Given the description of an element on the screen output the (x, y) to click on. 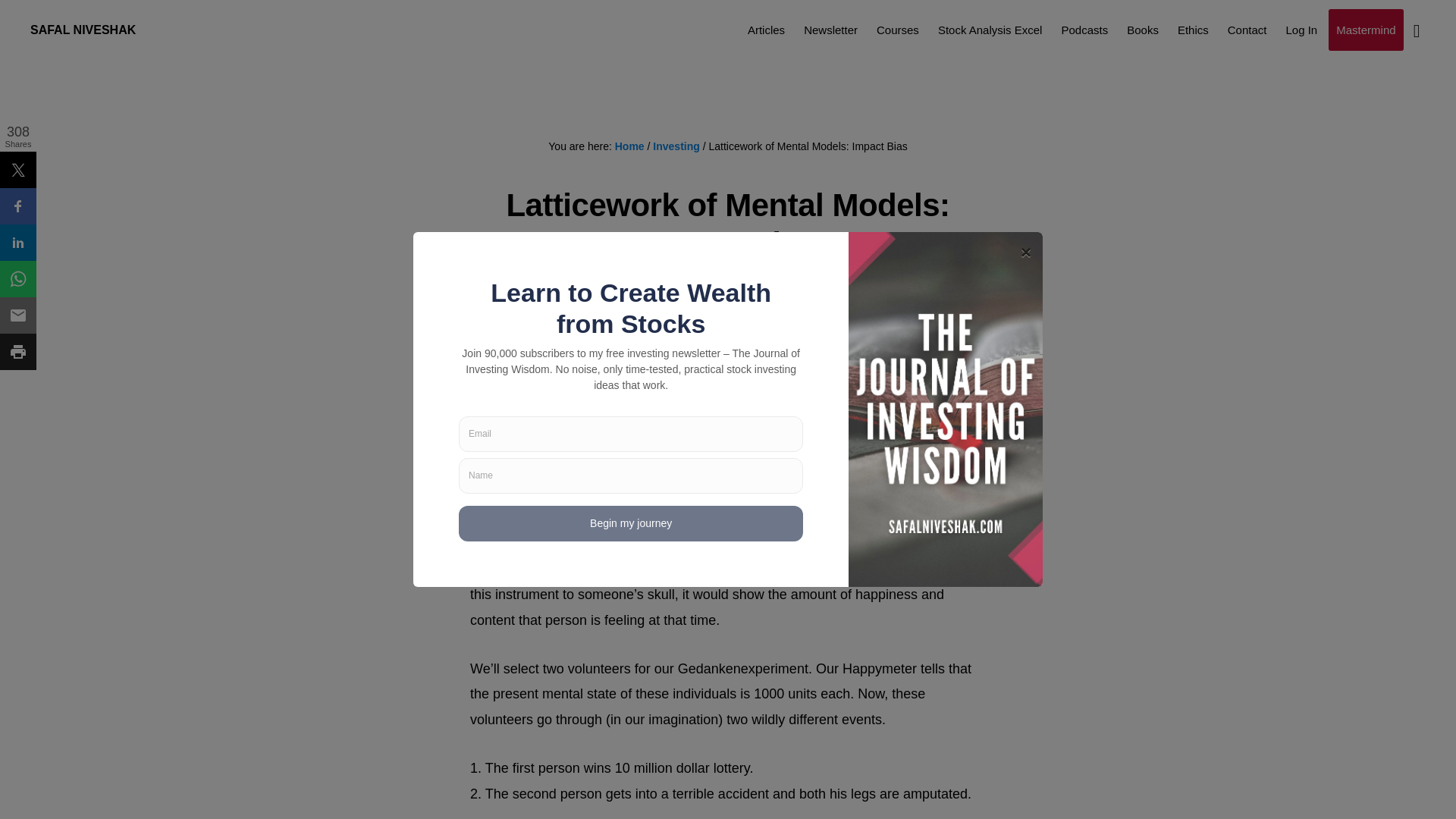
Articles (765, 29)
Log In (1301, 29)
Courses (897, 29)
Newsletter (830, 29)
Investing (675, 146)
Home (629, 146)
Ethics (1192, 29)
Stock Analysis Excel (989, 29)
Mastermind (1365, 29)
SAFAL NIVESHAK (82, 29)
Contact (1247, 29)
Podcasts (1083, 29)
Books (1142, 29)
